Given the description of an element on the screen output the (x, y) to click on. 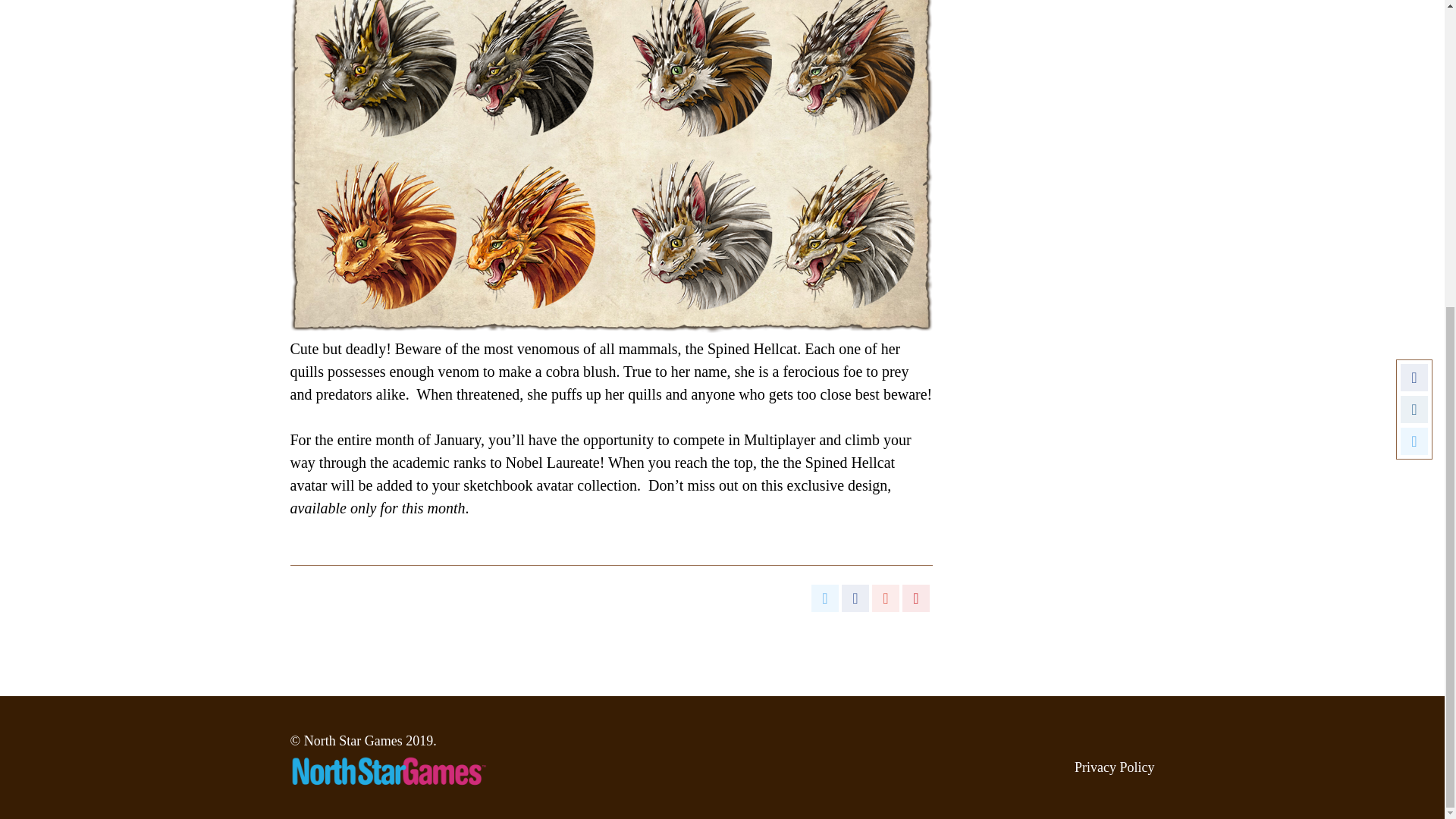
Privacy Policy (1114, 767)
North Star Games (353, 740)
Facebook (855, 597)
Pinterest (916, 597)
Twitter (824, 597)
